Given the description of an element on the screen output the (x, y) to click on. 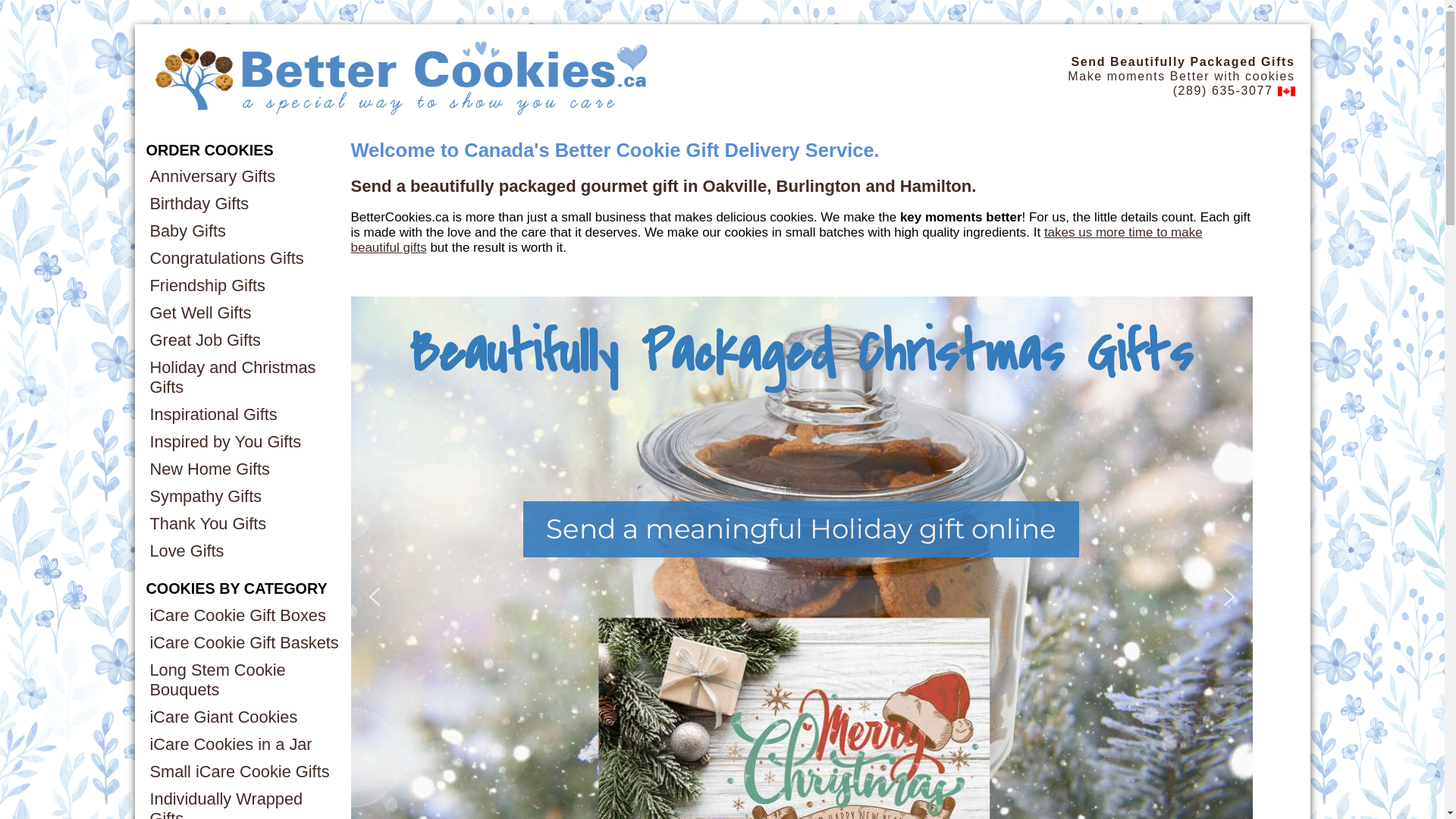
Sympathy Gifts Element type: text (243, 496)
iCare Cookie Gift Baskets Element type: text (243, 642)
Friendship Gifts Element type: text (243, 285)
Holiday and Christmas Gifts Element type: text (243, 377)
Get Well Gifts Element type: text (243, 312)
iCare Cookies in a Jar Element type: text (243, 744)
Oakville Element type: text (734, 185)
Long Stem Cookie Bouquets Element type: text (243, 679)
Hamilton Element type: text (936, 185)
Congratulations Gifts Element type: text (243, 258)
Anniversary Gifts Element type: text (243, 176)
Great Job Gifts Element type: text (243, 340)
Inspired by You Gifts Element type: text (243, 441)
Better Cookies.ca - Gourmet Vegan Cookie Delivery in Canada Element type: hover (403, 75)
Baby Gifts Element type: text (243, 230)
Small iCare Cookie Gifts Element type: text (243, 771)
iCare Giant Cookies Element type: text (243, 717)
takes us more time to make beautiful gifts Element type: text (775, 239)
Birthday Gifts Element type: text (243, 203)
Burlington Element type: text (818, 185)
Make moments Better with cookies Element type: text (1180, 75)
Thank You Gifts Element type: text (243, 523)
Love Gifts Element type: text (243, 550)
Inspirational Gifts Element type: text (243, 414)
iCare Cookie Gift Boxes Element type: text (243, 615)
New Home Gifts Element type: text (243, 469)
